Given the description of an element on the screen output the (x, y) to click on. 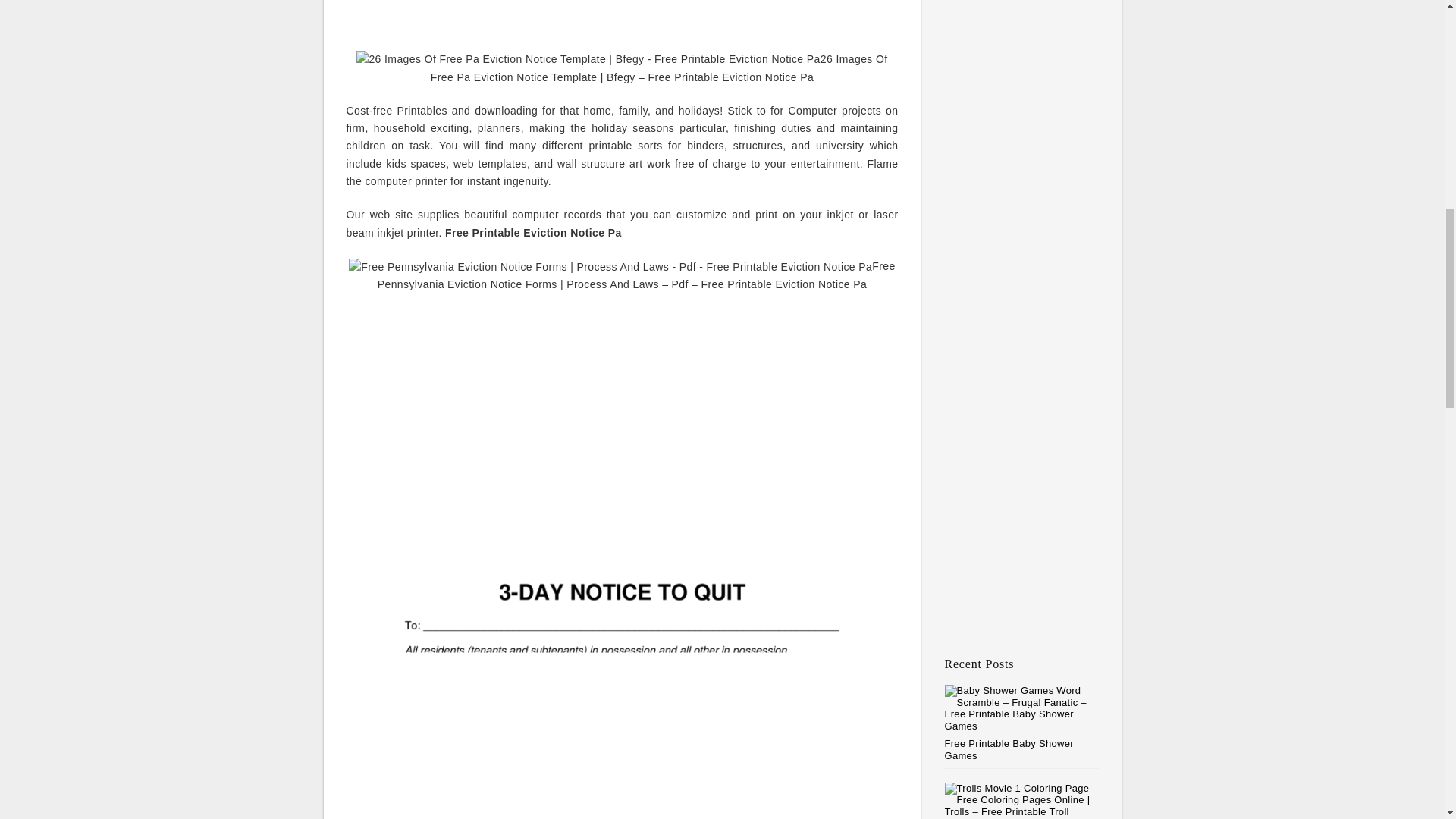
Free Printable Baby Shower Games (1009, 749)
Free Printable Baby Shower Games (1009, 749)
